Given the description of an element on the screen output the (x, y) to click on. 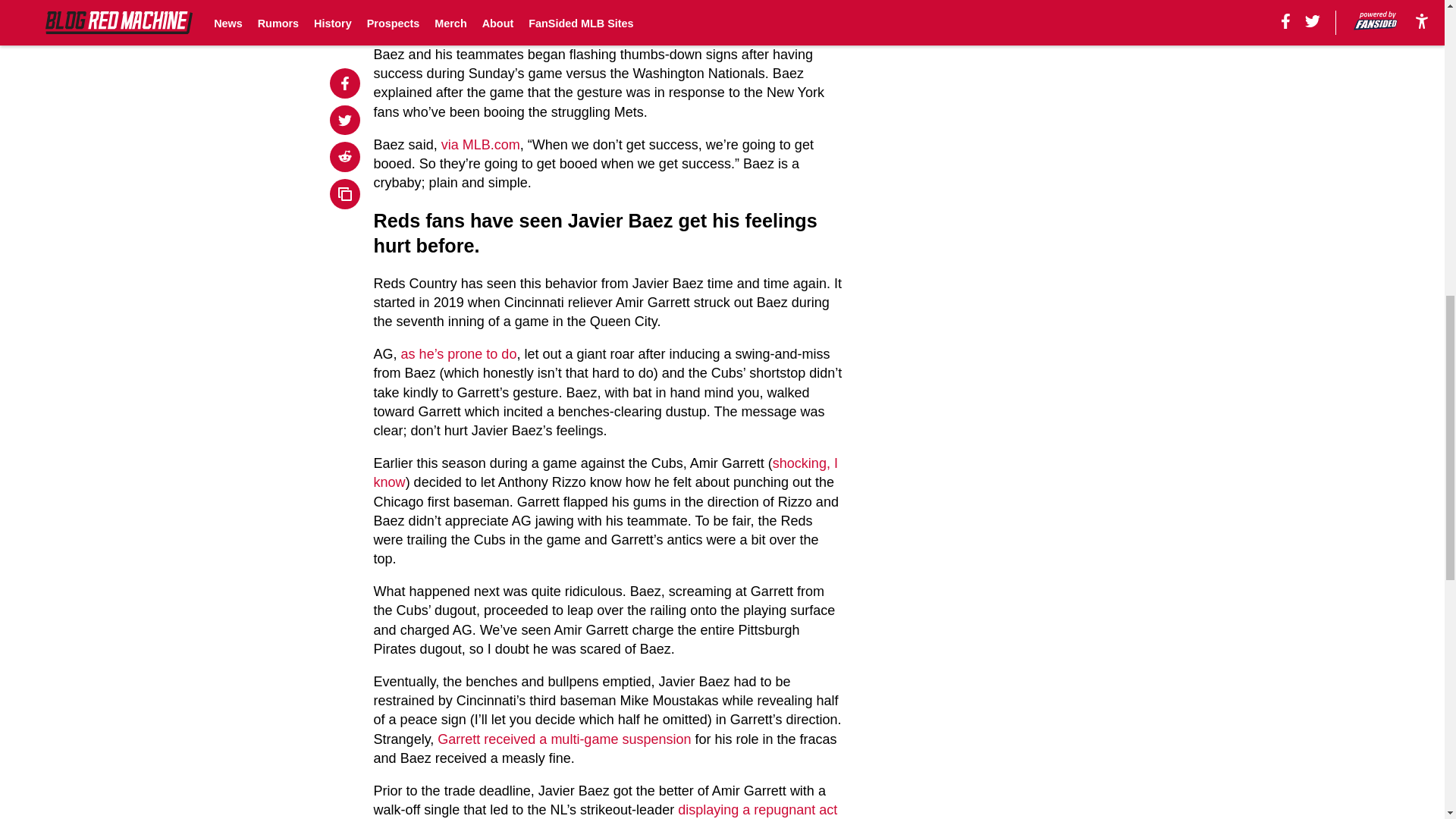
Garrett received a multi-game suspension (564, 739)
via MLB.com (480, 144)
displaying a repugnant act (757, 809)
Cincinnati Reds (741, 5)
shocking, I know (606, 472)
